Given the description of an element on the screen output the (x, y) to click on. 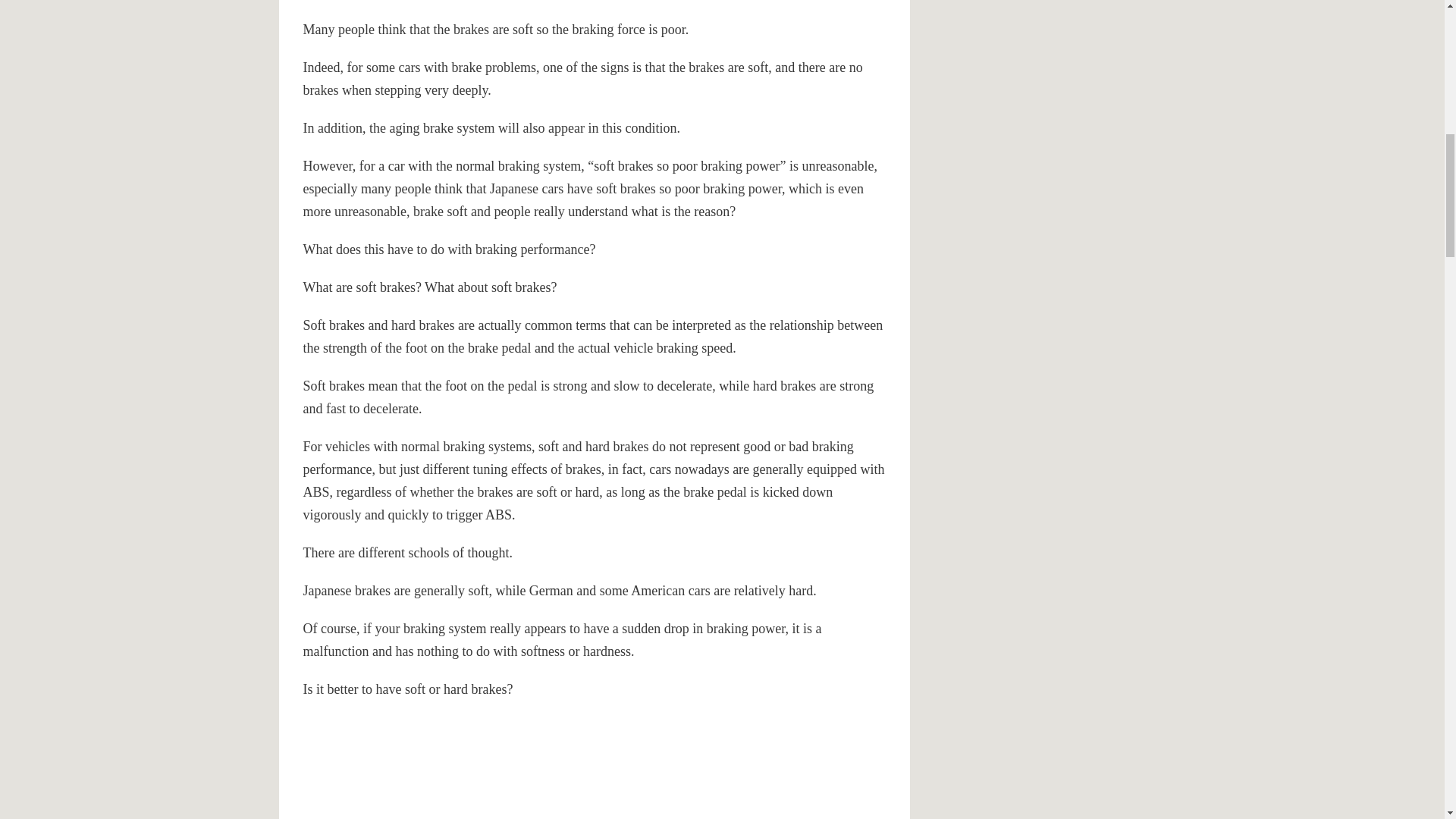
YouTube video player (515, 760)
